Given the description of an element on the screen output the (x, y) to click on. 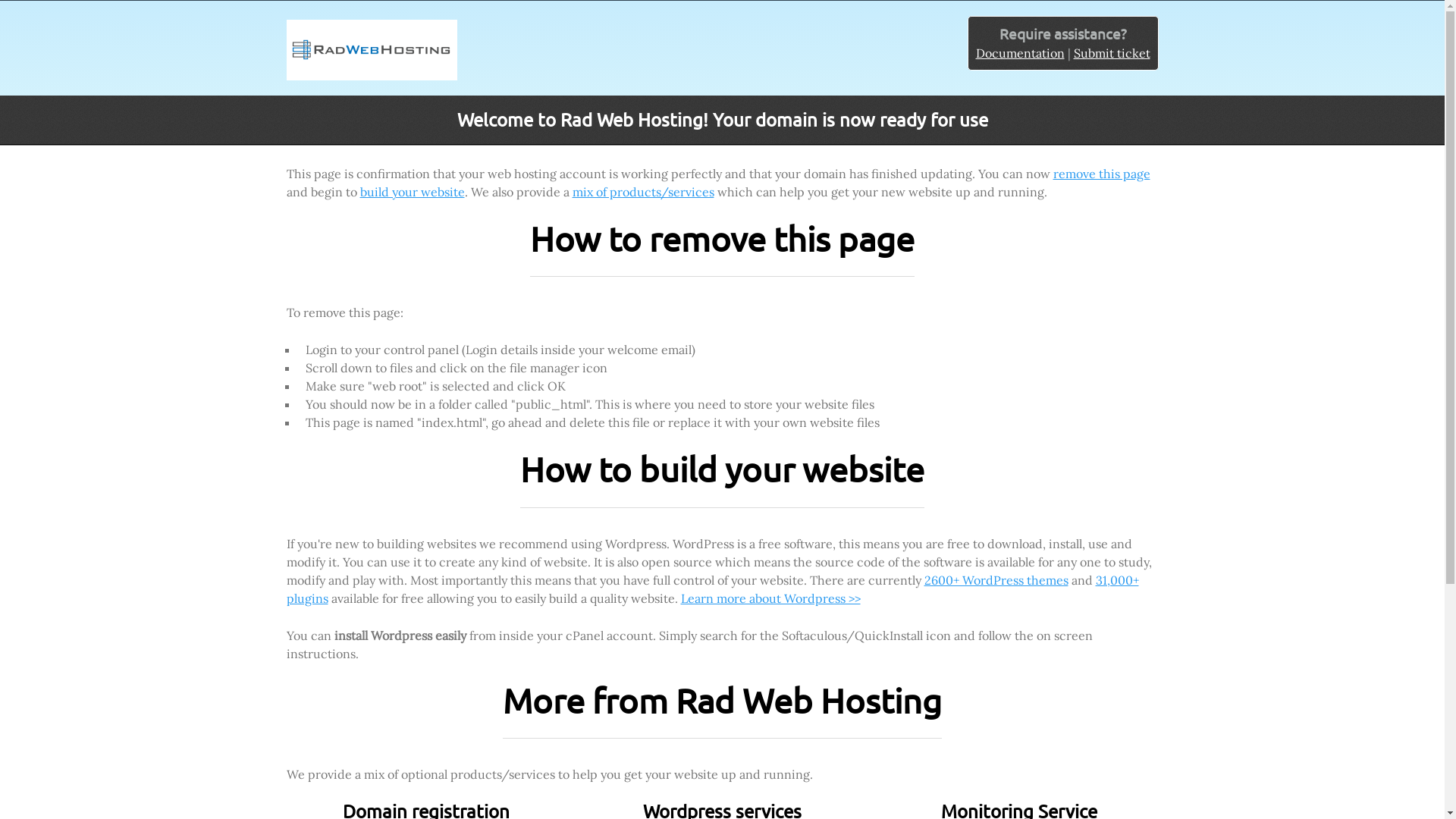
31,000+ plugins Element type: text (712, 588)
build your website Element type: text (411, 191)
mix of products/services Element type: text (642, 191)
Submit ticket Element type: text (1111, 52)
Documentation Element type: text (1019, 52)
2600+ WordPress themes Element type: text (995, 579)
remove this page Element type: text (1100, 173)
Learn more about Wordpress >> Element type: text (770, 597)
